Given the description of an element on the screen output the (x, y) to click on. 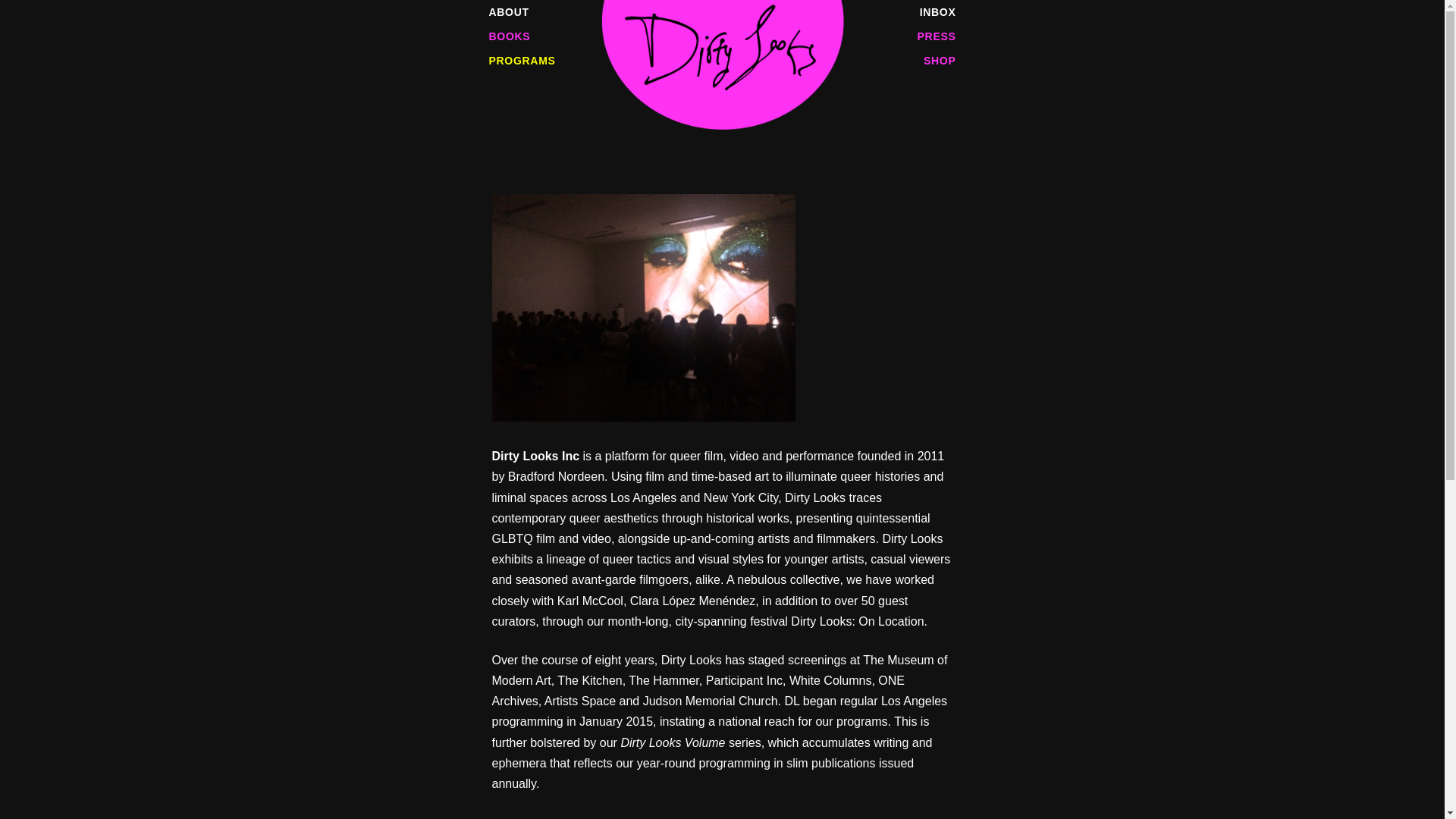
BOOKS (596, 36)
SHOP (845, 60)
ABOUT (596, 12)
PRESS (845, 36)
PROGRAMS (596, 60)
INBOX (845, 12)
